Given the description of an element on the screen output the (x, y) to click on. 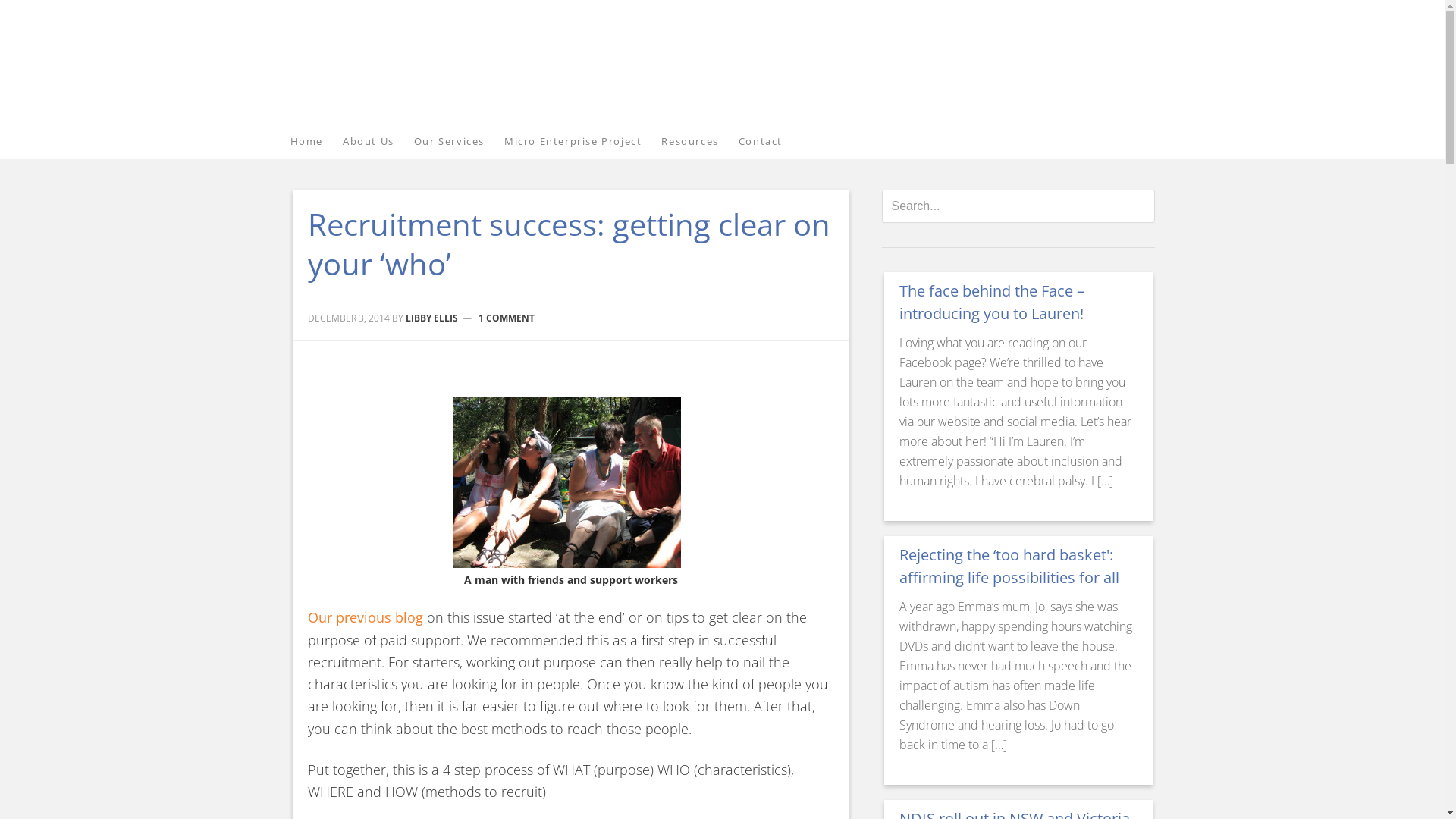
1 COMMENT Element type: text (506, 316)
InCharge Element type: text (425, 62)
Our Services Element type: text (459, 141)
LIBBY ELLIS Element type: text (430, 316)
Micro Enterprise Project Element type: text (582, 141)
Our previous blog Element type: text (365, 617)
About Us Element type: text (378, 141)
Search Element type: text (1154, 188)
Contact Element type: text (770, 141)
Home Element type: text (315, 141)
Resources Element type: text (699, 141)
